Given the description of an element on the screen output the (x, y) to click on. 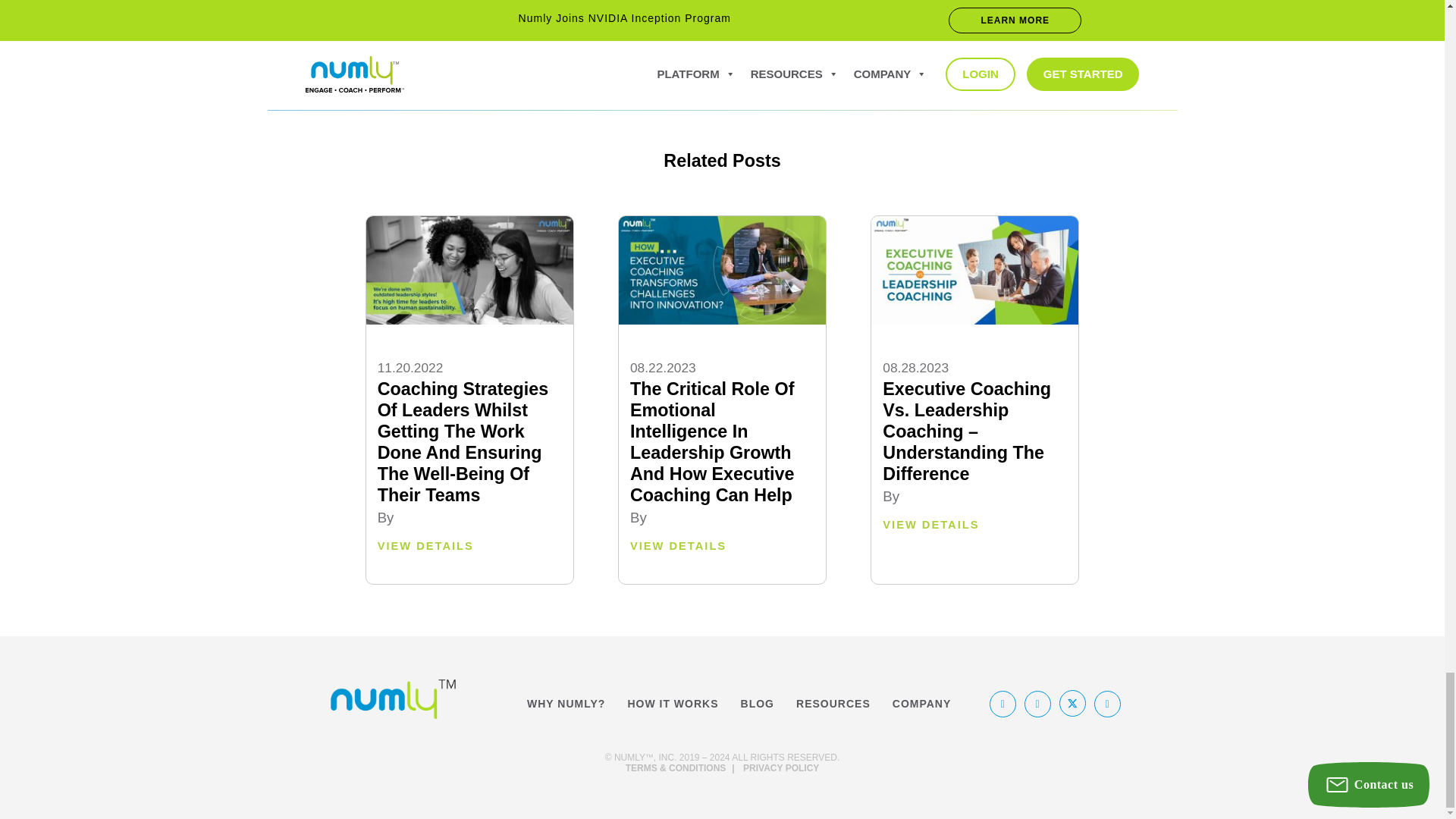
Post Comment (916, 18)
